Given the description of an element on the screen output the (x, y) to click on. 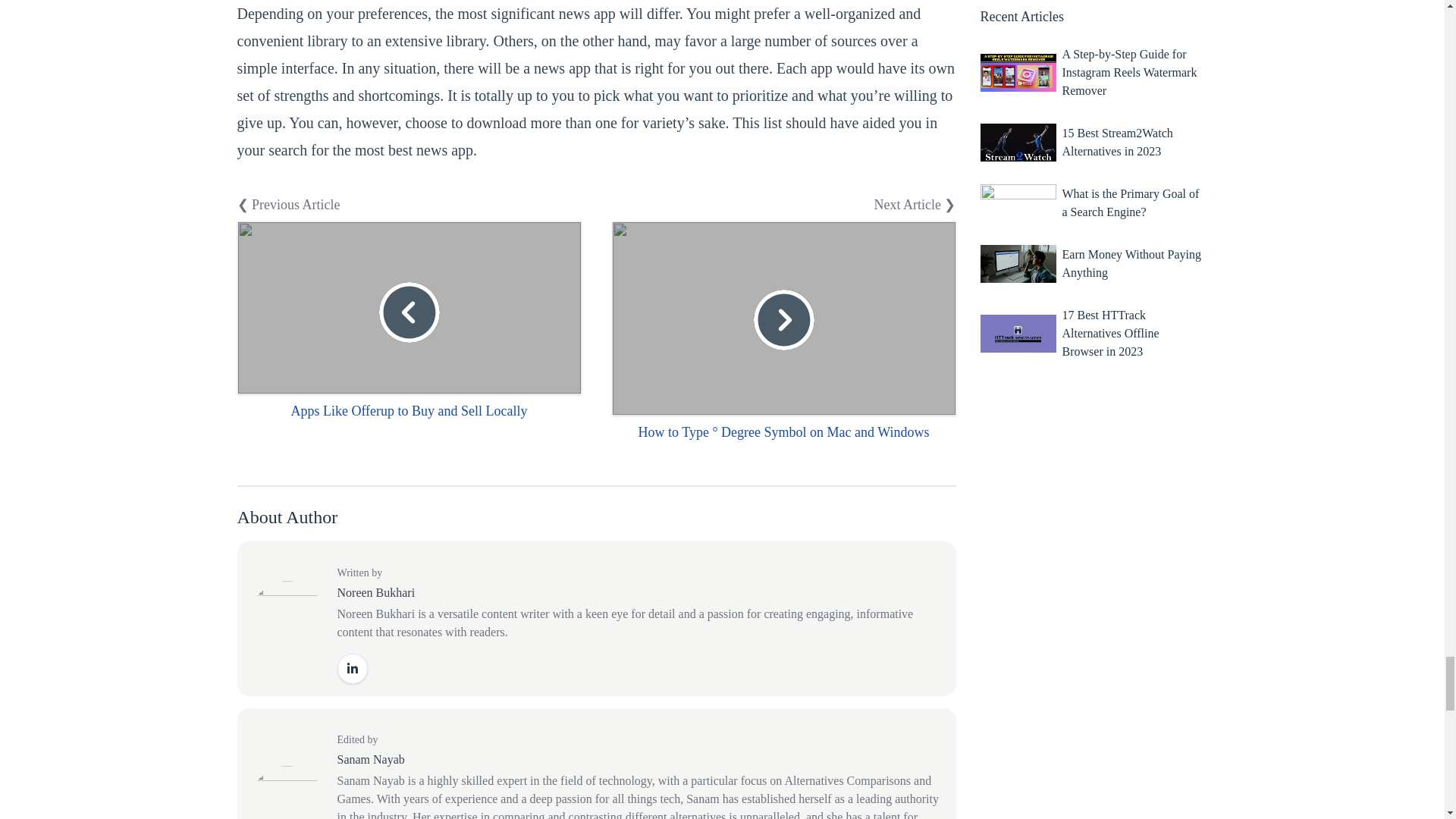
Apps Like Offerup to Buy and Sell Locally (408, 410)
Sanam Nayab (370, 758)
Noreen Bukhari (375, 592)
